Given the description of an element on the screen output the (x, y) to click on. 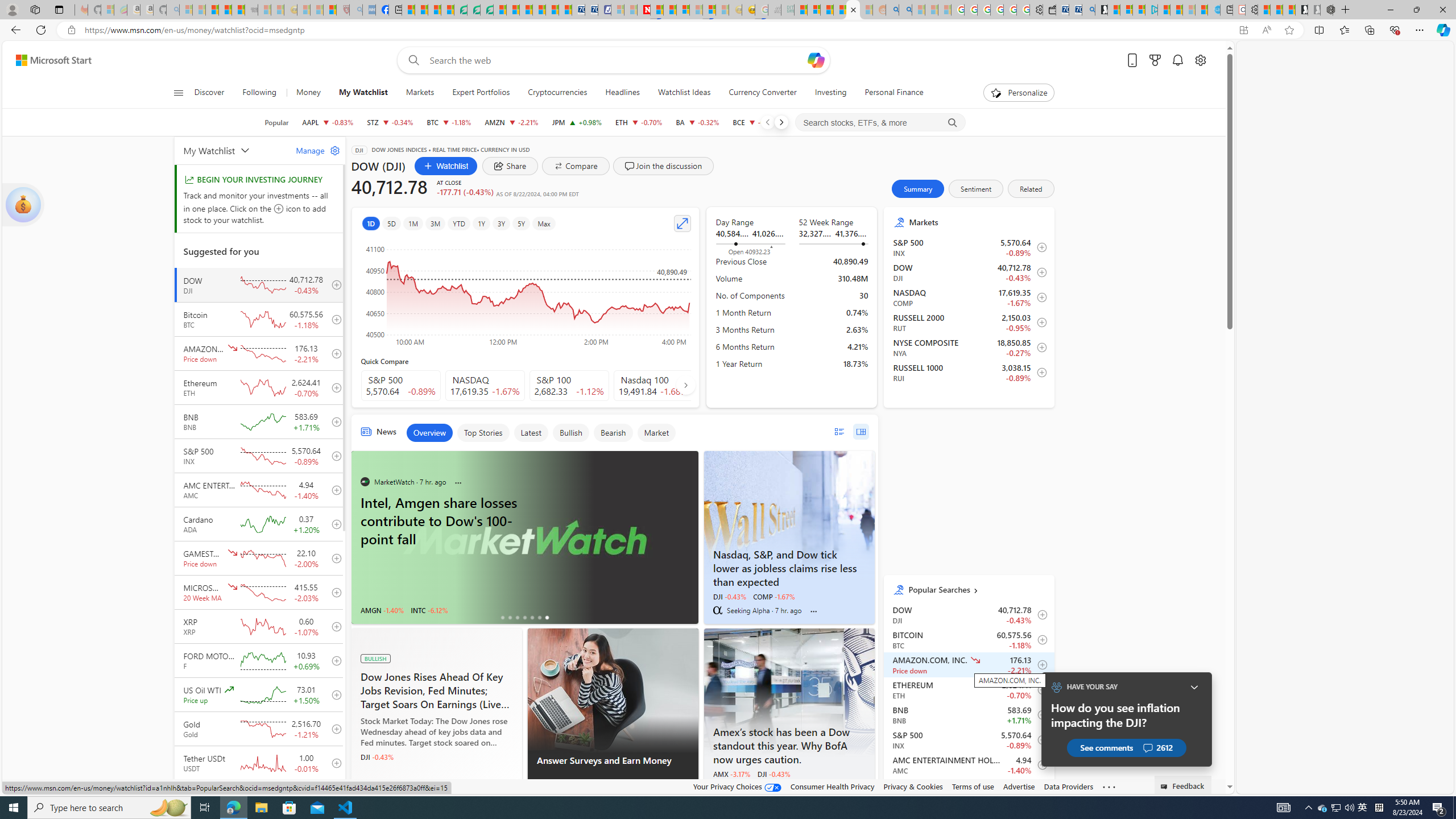
AutomationID: finance_carousel_navi_arrow (685, 385)
BA THE BOEING COMPANY decrease 172.87 -0.56 -0.32% (697, 122)
Next (780, 122)
BTC Bitcoin decrease 60,575.56 -716.61 -1.18% (449, 122)
My Watchlist (232, 150)
Bearish (612, 432)
Home | Sky Blue Bikes - Sky Blue Bikes (1213, 9)
